Given the description of an element on the screen output the (x, y) to click on. 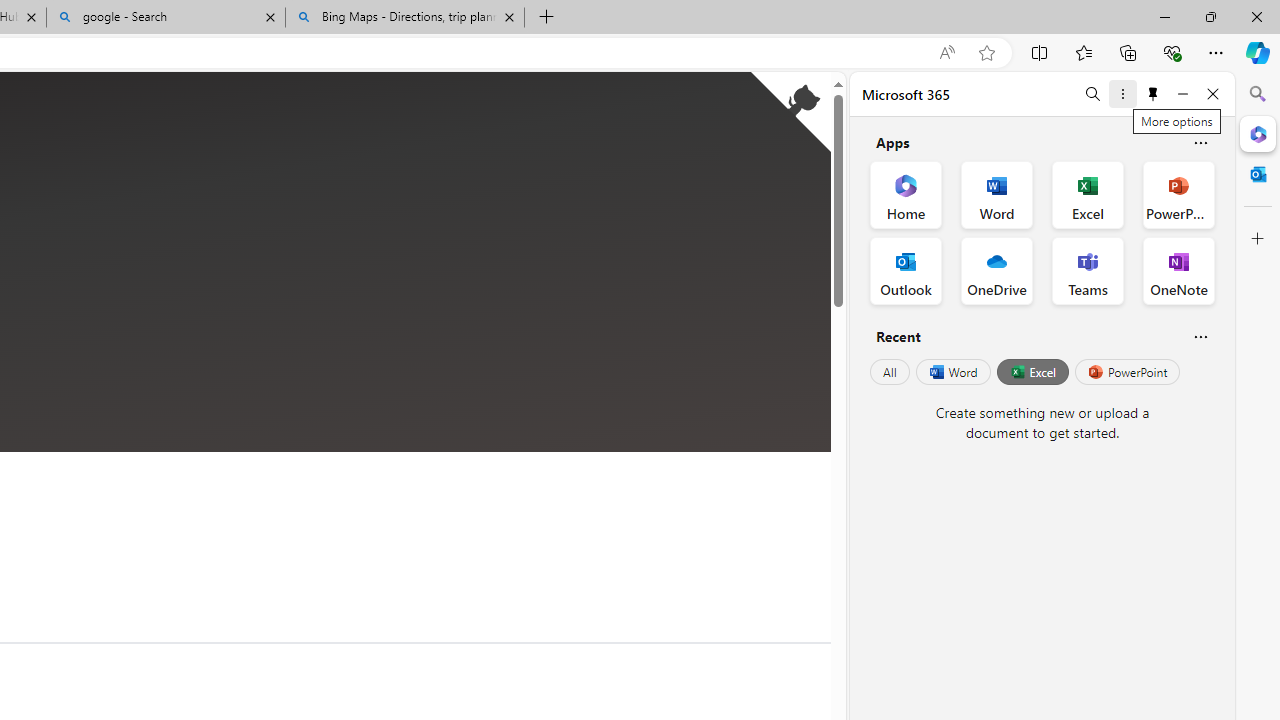
All (890, 372)
Excel Office App (1087, 194)
Teams Office App (1087, 270)
PowerPoint (1127, 372)
